Given the description of an element on the screen output the (x, y) to click on. 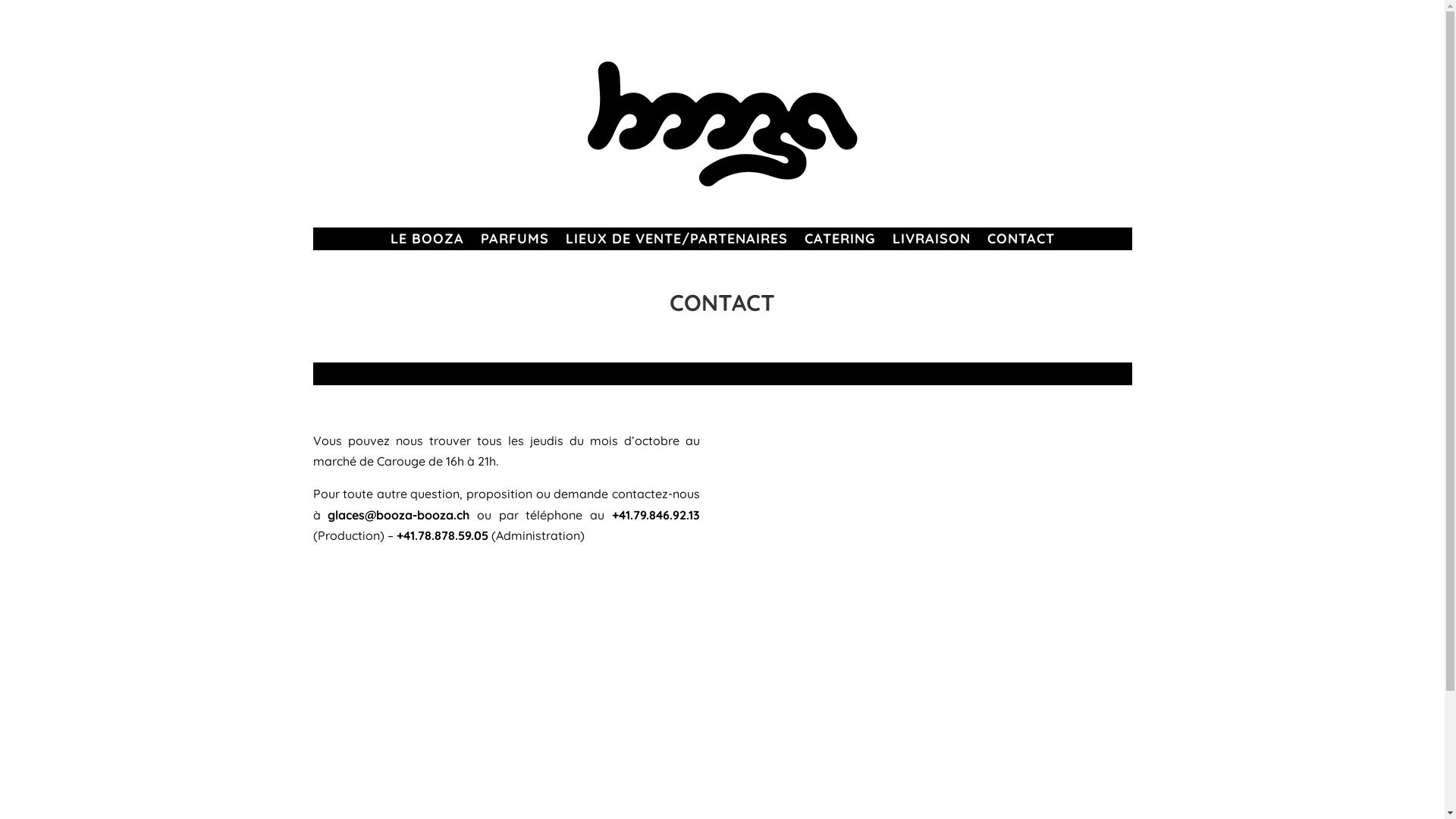
LIEUX DE VENTE/PARTENAIRES Element type: text (676, 241)
+41.78.878.59.05 Element type: text (441, 534)
Logo-Booza-70pct Element type: hover (721, 123)
CATERING Element type: text (839, 241)
PARFUMS Element type: text (514, 241)
+41.79.846.92.13 Element type: text (655, 514)
glaces@booza-booza.ch Element type: text (398, 514)
LIVRAISON Element type: text (930, 241)
LE BOOZA Element type: text (426, 241)
CONTACT Element type: text (1020, 241)
